Given the description of an element on the screen output the (x, y) to click on. 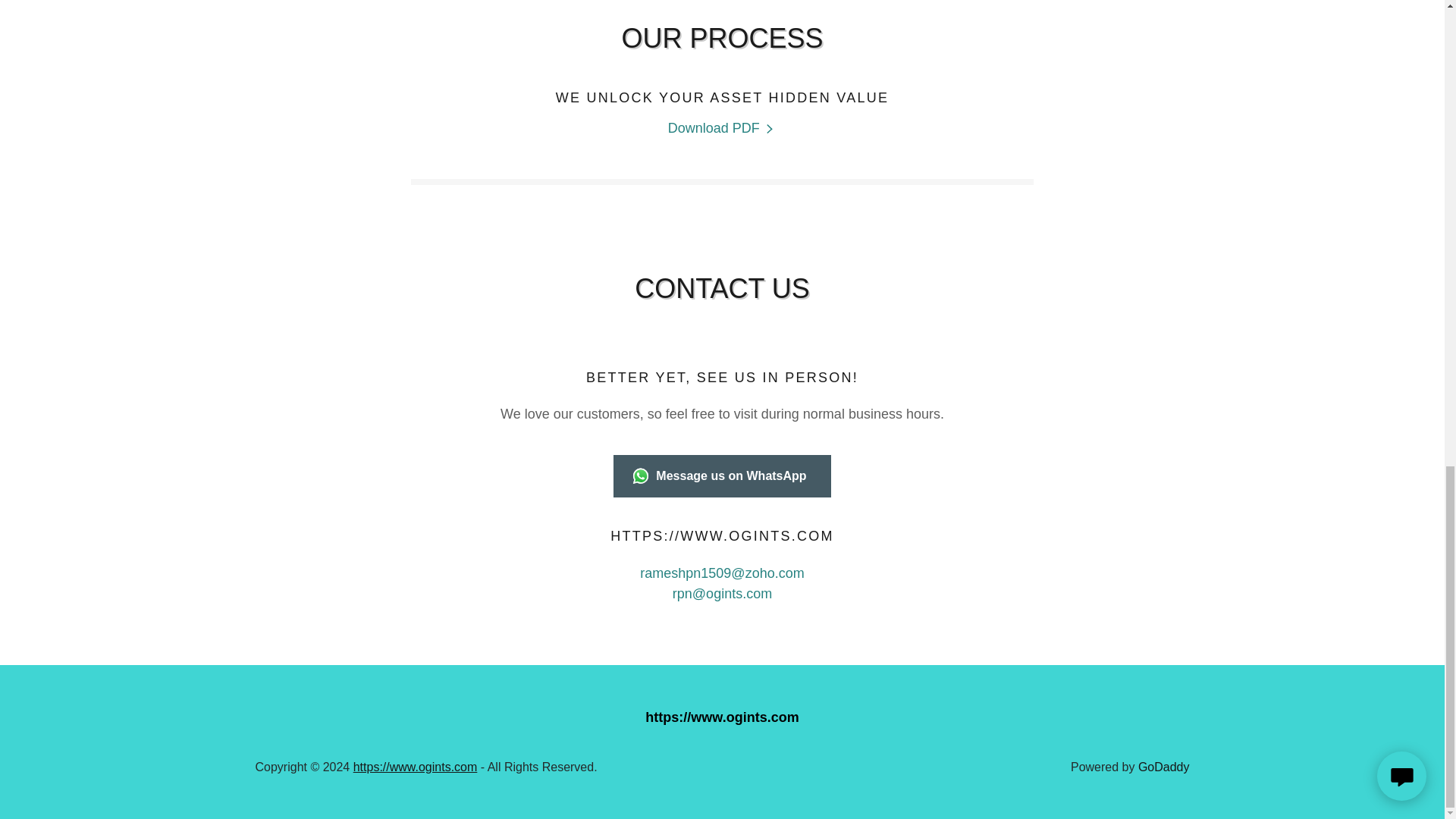
GoDaddy (1163, 766)
ACCEPT (1274, 51)
Message us on WhatsApp (720, 476)
Download PDF (722, 128)
